Given the description of an element on the screen output the (x, y) to click on. 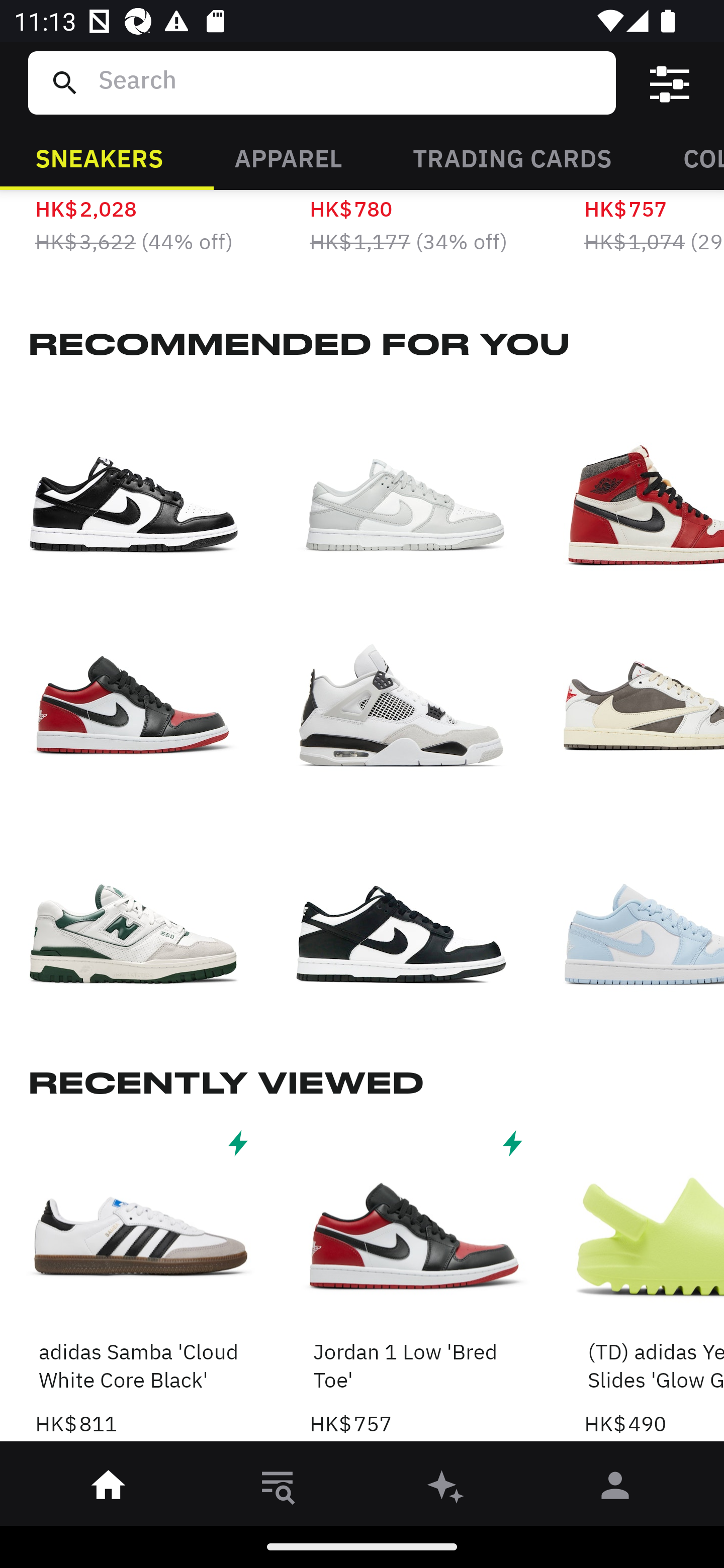
Search (349, 82)
 (669, 82)
SNEAKERS (99, 156)
APPAREL (287, 156)
TRADING CARDS (512, 156)
 adidas Samba 'Cloud White Core Black' HK$ 811 (140, 1281)
 Jordan 1 Low 'Bred Toe' HK$ 757 (414, 1281)
(TD) adidas Yeezy Slides 'Glow Green' 2022 HK$ 490 (654, 1281)
󰋜 (108, 1488)
󱎸 (277, 1488)
󰫢 (446, 1488)
󰀄 (615, 1488)
